Given the description of an element on the screen output the (x, y) to click on. 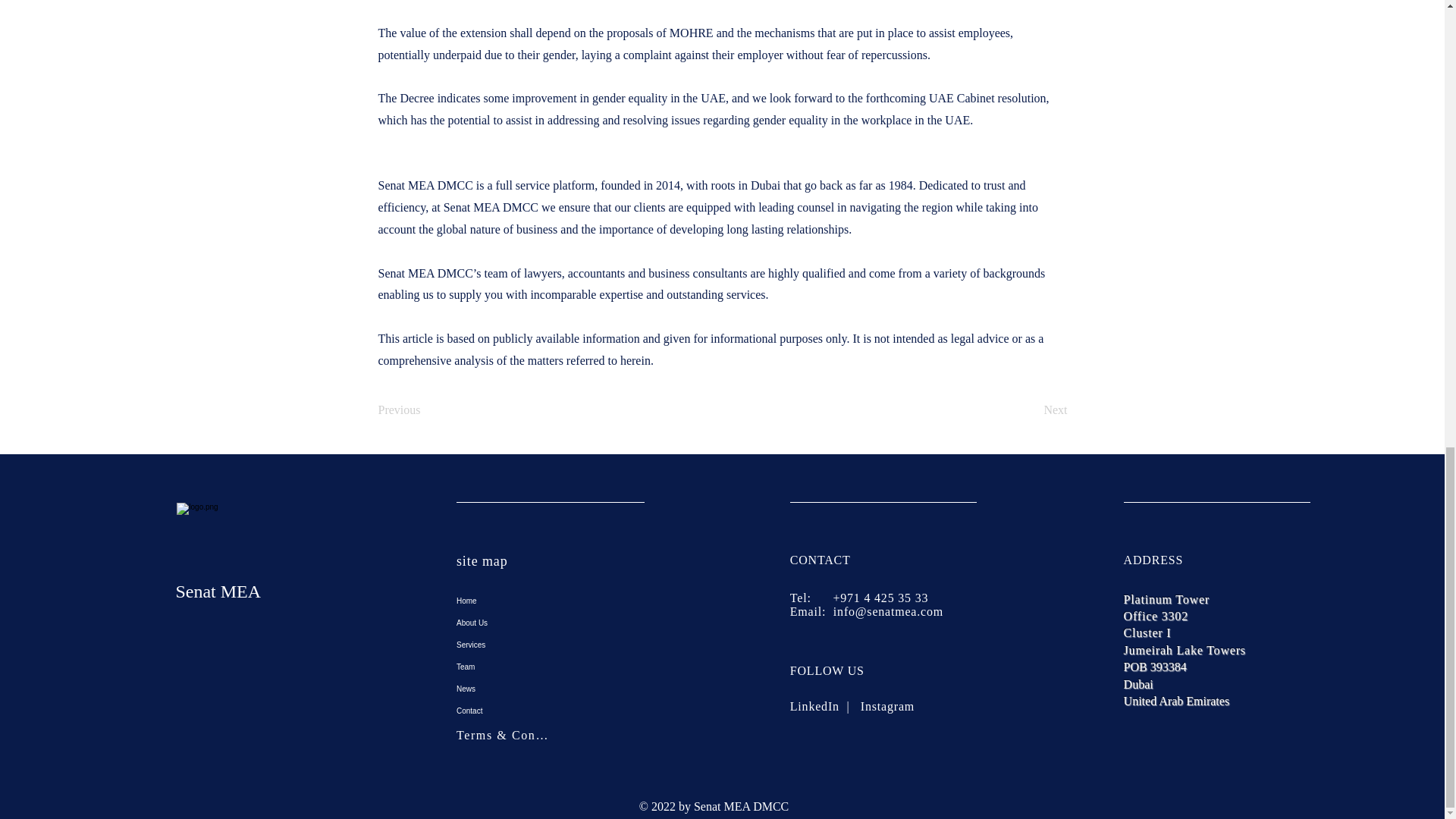
Next (1029, 410)
News (550, 689)
Instagram   (890, 706)
Previous (427, 410)
LinkedIn (815, 706)
Home (550, 600)
Senat MEA (217, 591)
Services (550, 644)
Team (550, 667)
Contact (550, 710)
About Us (550, 622)
